Given the description of an element on the screen output the (x, y) to click on. 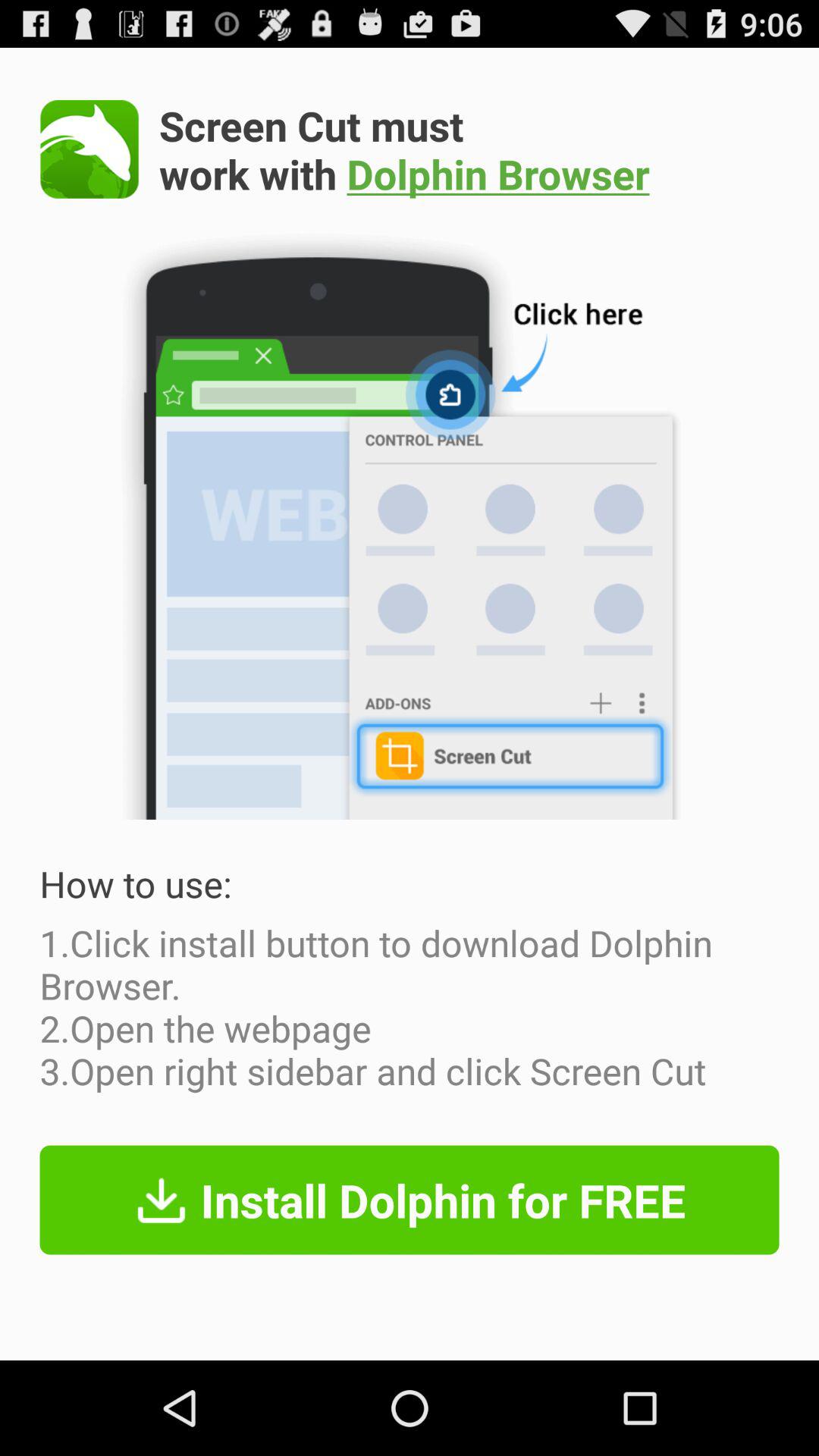
turn off the icon next to the screen cut must (89, 149)
